Given the description of an element on the screen output the (x, y) to click on. 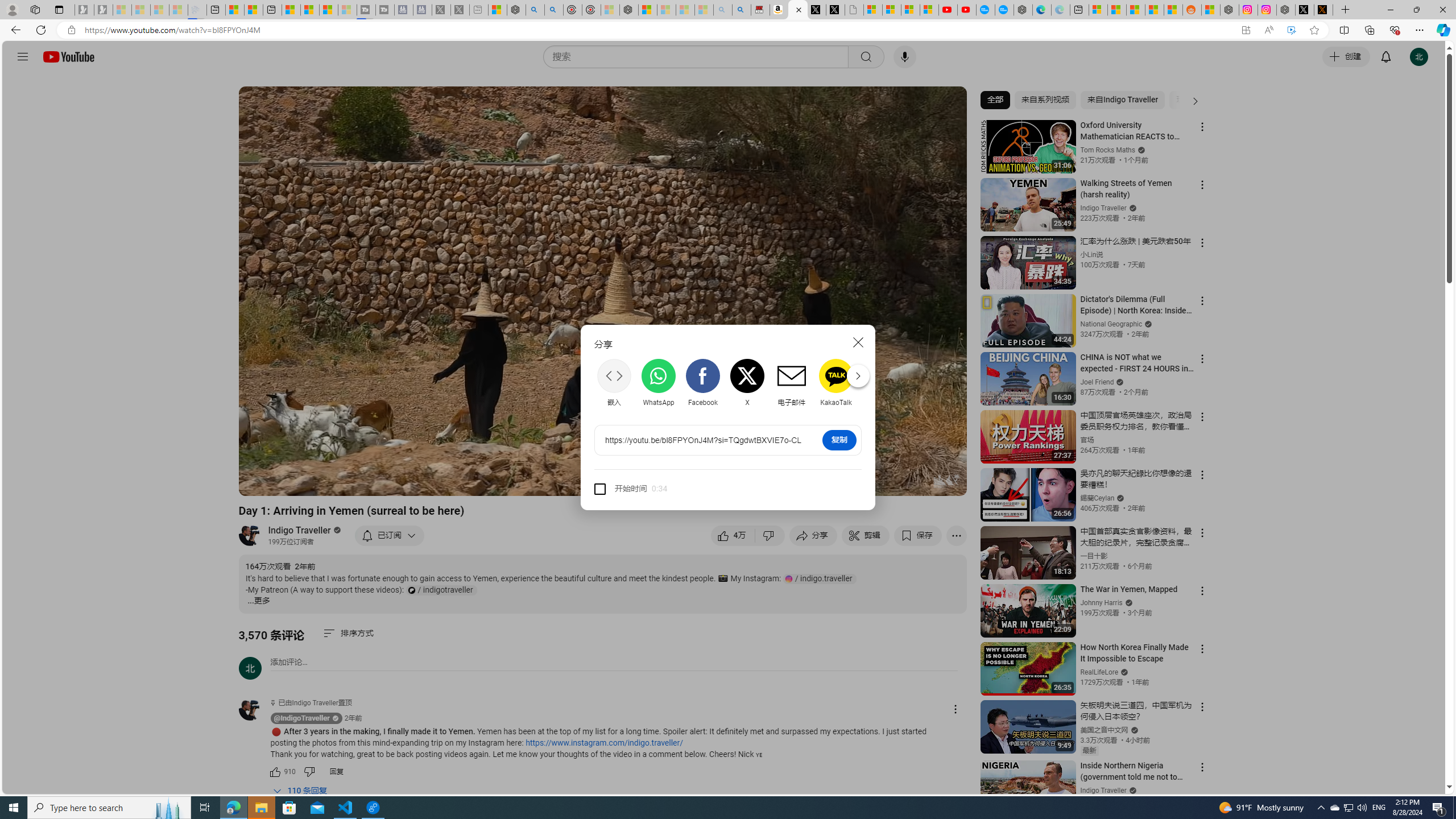
Reddit (879, 382)
@IndigoTraveller (254, 709)
WhatsApp (658, 383)
Untitled (853, 9)
